Given the description of an element on the screen output the (x, y) to click on. 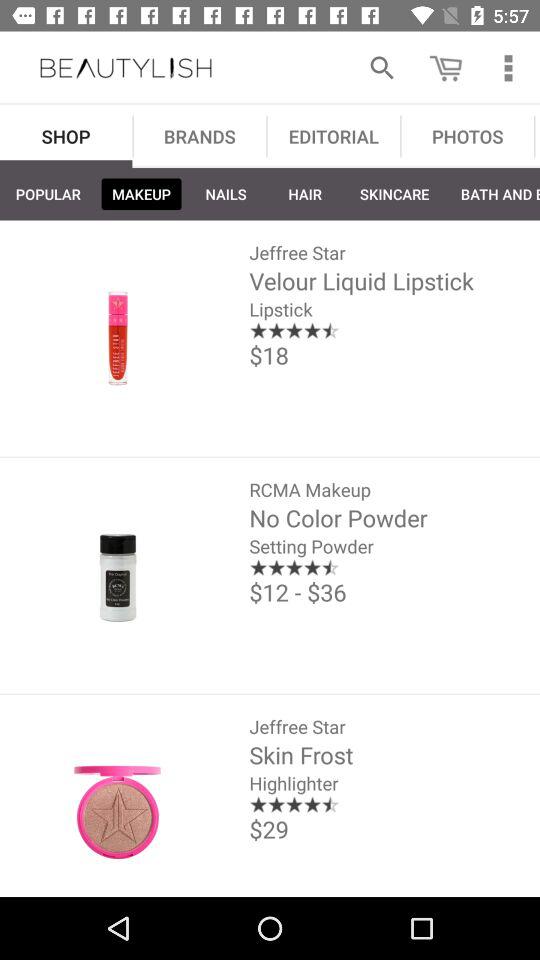
go to bath and (492, 194)
click on search  (382, 68)
